Given the description of an element on the screen output the (x, y) to click on. 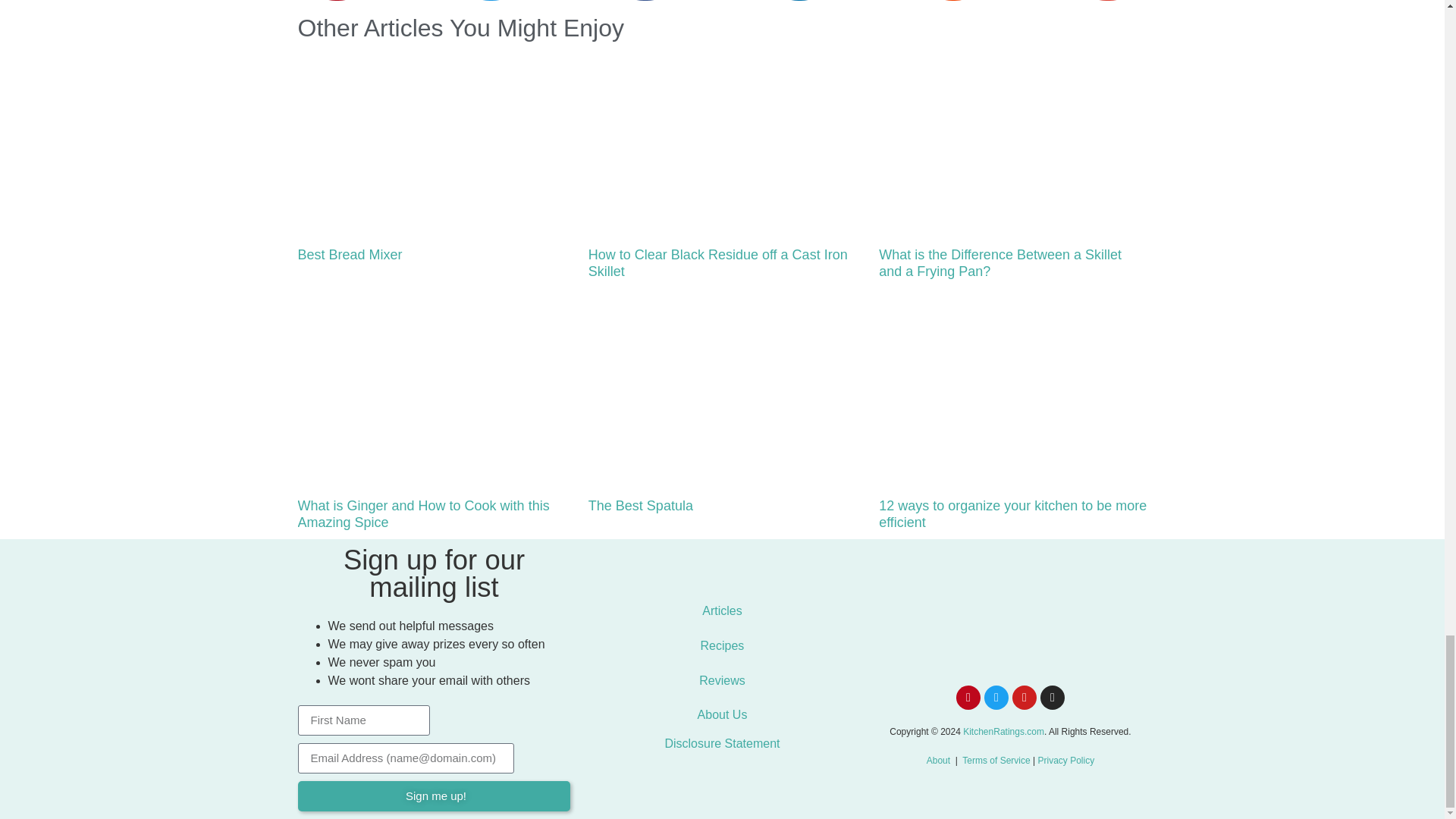
What is the Difference Between a Skillet and a Frying Pan? (1000, 263)
Other Articles You Might Enjoy (460, 27)
The Best Spatula (640, 505)
What is Ginger and How to Cook with this Amazing Spice (422, 513)
How to Clear Black Residue off a Cast Iron Skillet (717, 263)
Best Bread Mixer (349, 254)
